Given the description of an element on the screen output the (x, y) to click on. 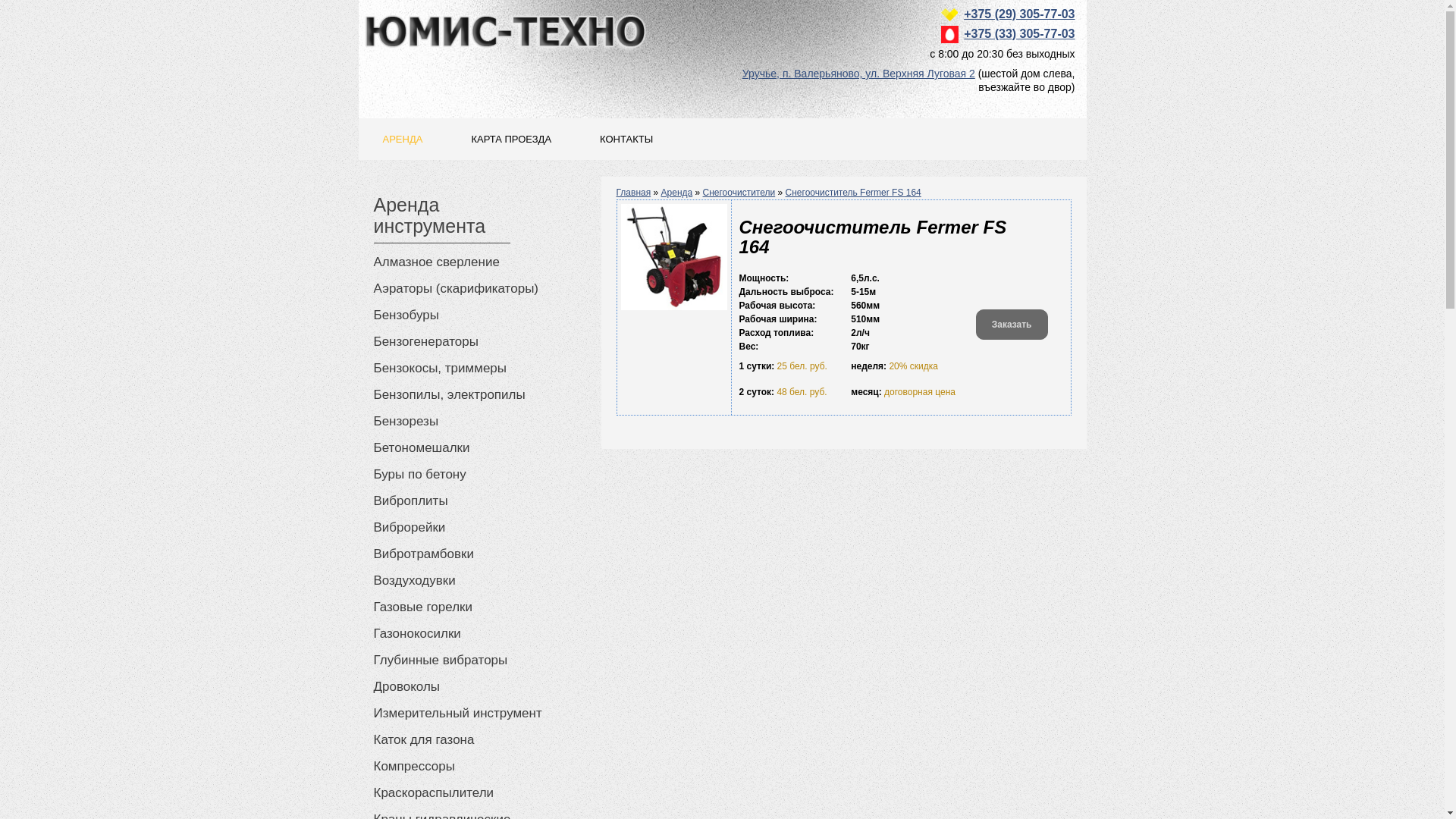
+375 (29) 305-77-03 Element type: text (1018, 13)
+375 (33) 305-77-03 Element type: text (1018, 33)
